Given the description of an element on the screen output the (x, y) to click on. 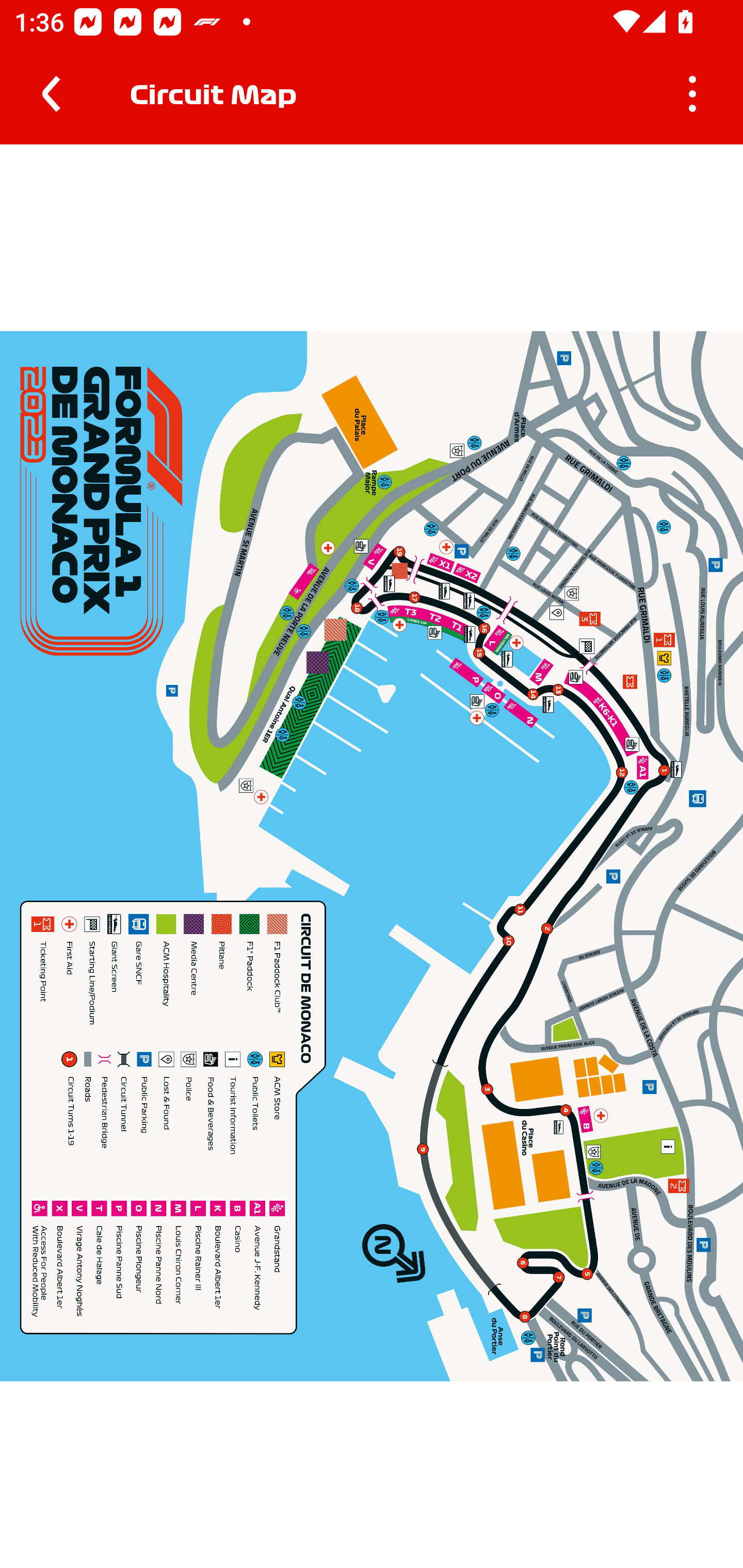
Navigate up (50, 93)
